Given the description of an element on the screen output the (x, y) to click on. 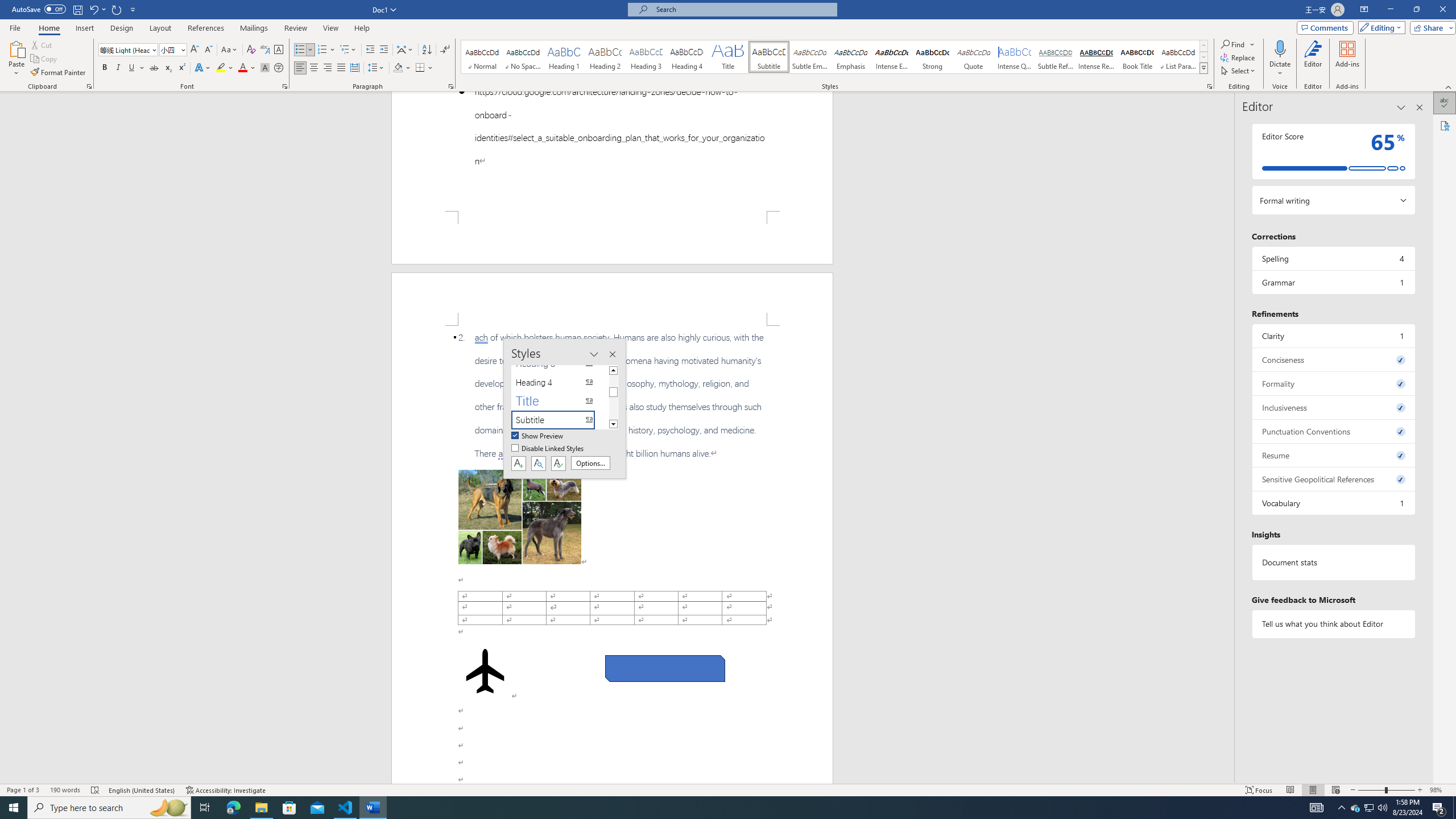
Editing (1379, 27)
Page Number Page 1 of 3 (22, 790)
Options... (590, 463)
Grow Font (193, 49)
Undo Bullet Default (92, 9)
Footer -Section 1- (611, 237)
Disable Linked Styles (548, 448)
Clarity, 1 issue. Press space or enter to review items. (1333, 335)
Multilevel List (347, 49)
Editor Score 65% (1333, 151)
Page 1 content (611, 151)
